Given the description of an element on the screen output the (x, y) to click on. 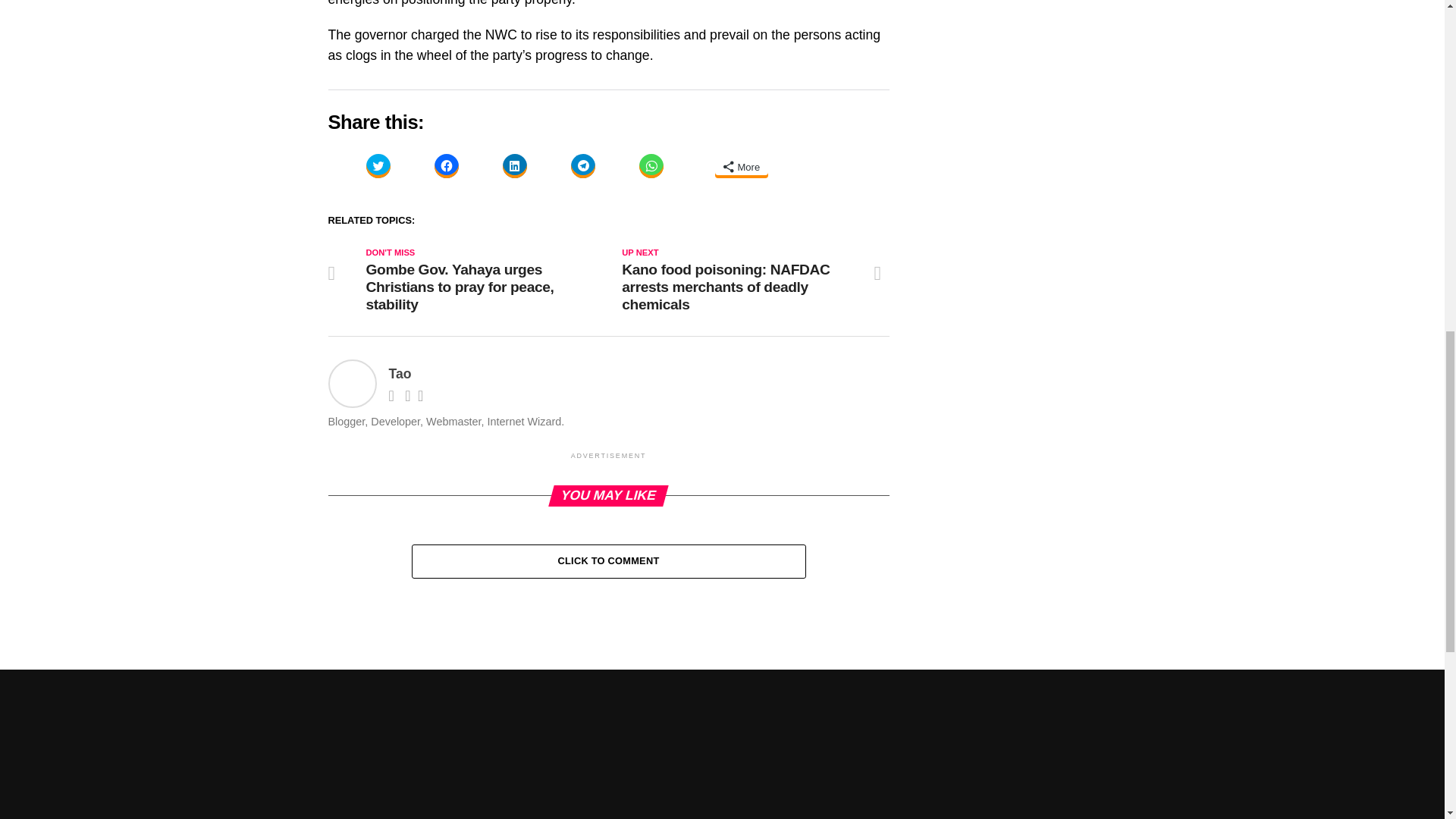
Click to share on LinkedIn (513, 165)
Click to share on WhatsApp (650, 165)
Click to share on Telegram (582, 165)
Click to share on Twitter (377, 165)
Click to share on Facebook (445, 165)
